Given the description of an element on the screen output the (x, y) to click on. 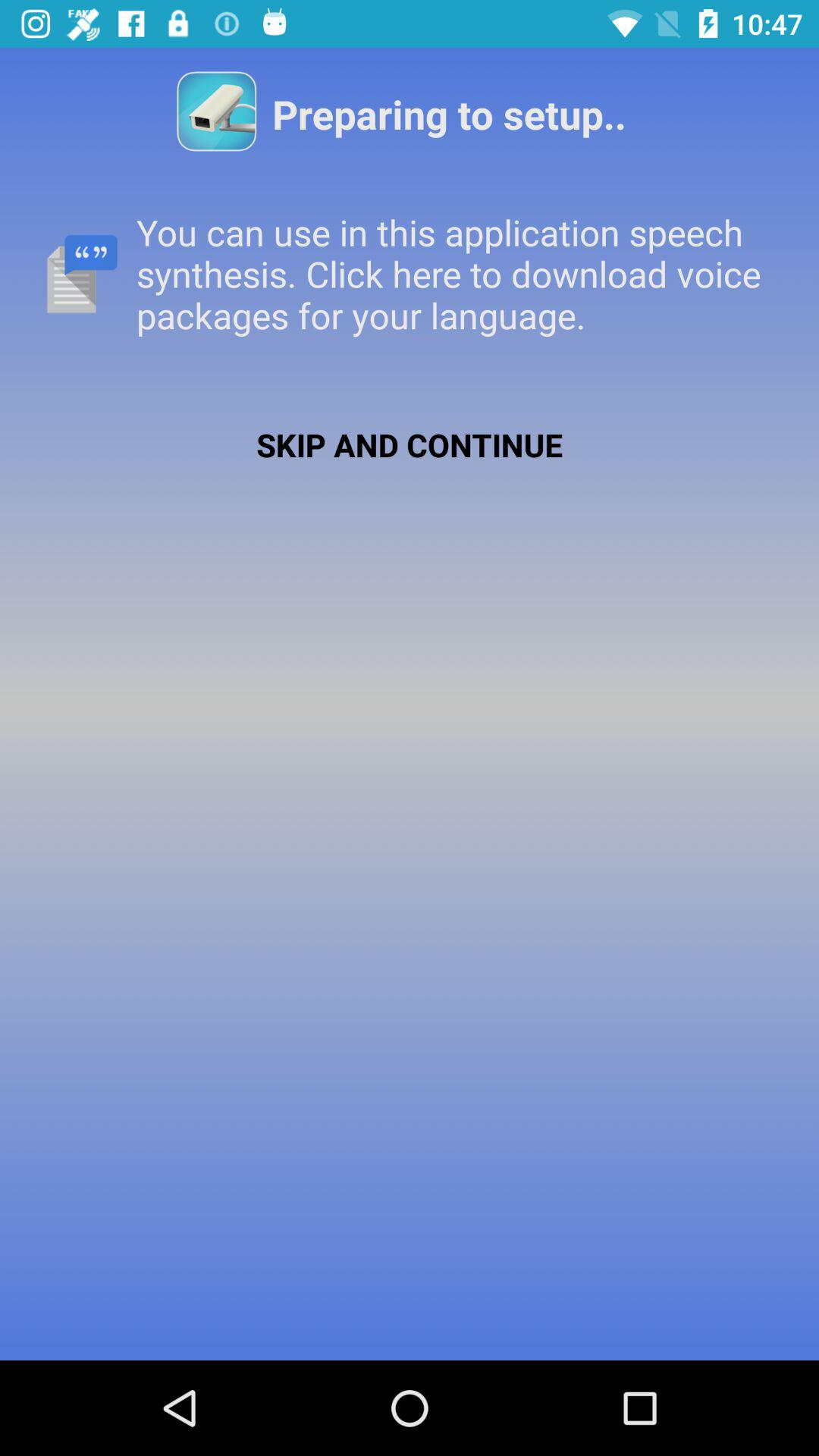
select skip and continue (409, 444)
